Given the description of an element on the screen output the (x, y) to click on. 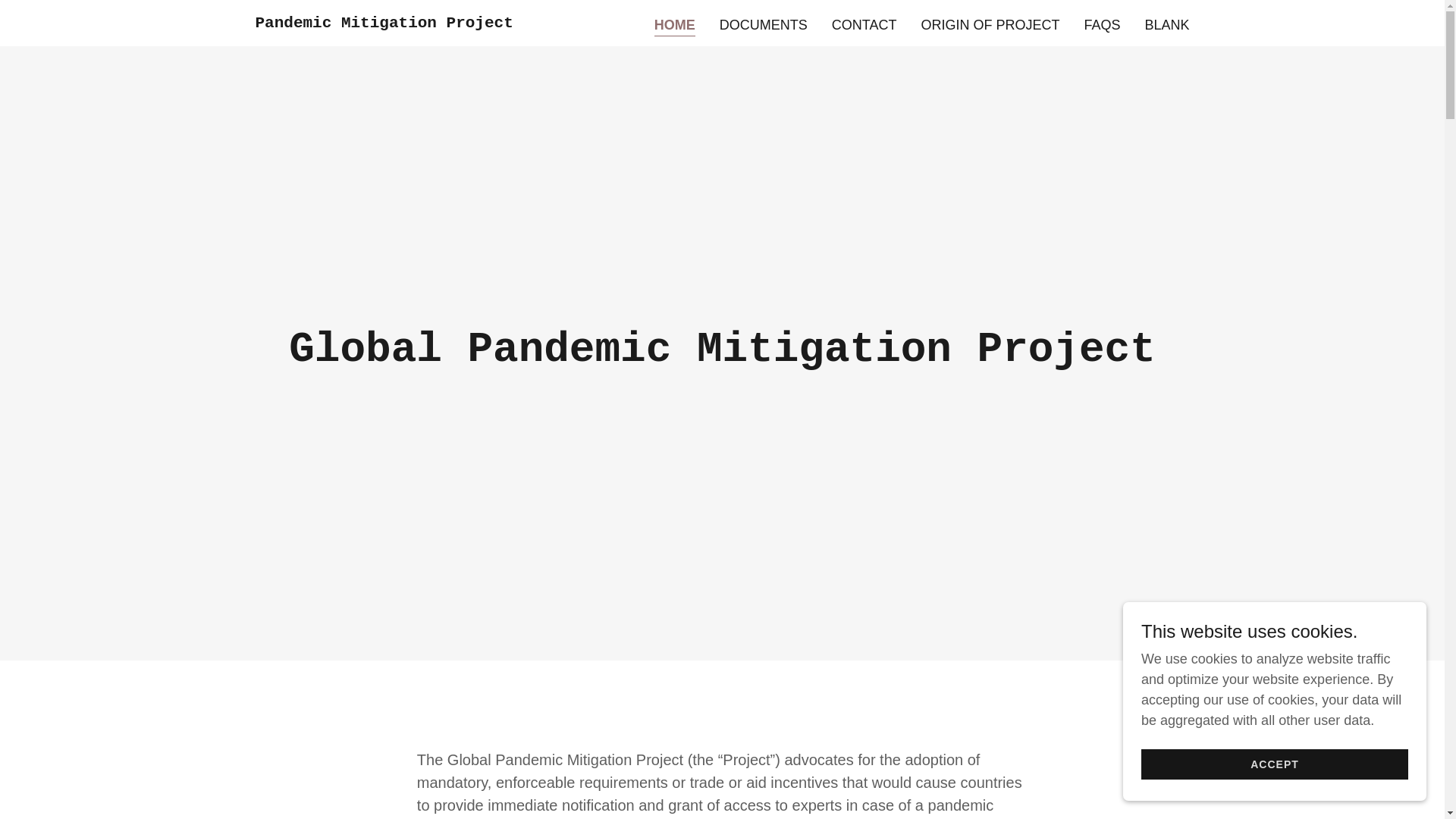
HOME (674, 25)
Pandemic Mitigation Project (383, 22)
CONTACT (864, 24)
ORIGIN OF PROJECT (989, 24)
Pandemic Mitigation Project (383, 22)
FAQS (1101, 24)
DOCUMENTS (763, 24)
ACCEPT (1274, 764)
BLANK (1166, 24)
